Given the description of an element on the screen output the (x, y) to click on. 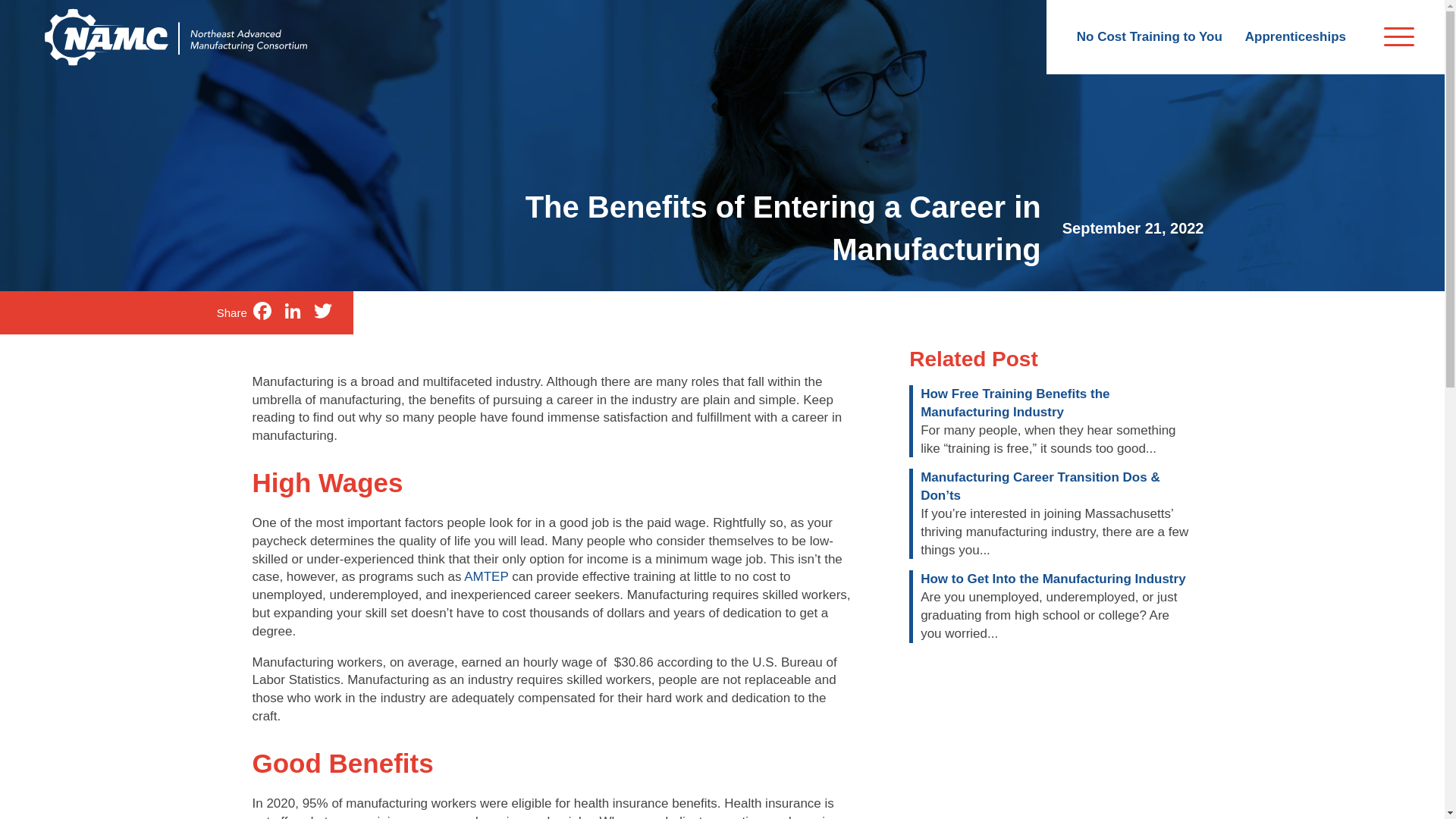
Facebook (262, 312)
Twitter (322, 312)
LinkedIn (292, 312)
Apprenticeships (1294, 36)
Twitter (322, 312)
LinkedIn (292, 312)
Facebook (262, 312)
How Free Training Benefits the Manufacturing Industry (1056, 402)
No Cost Training to You (1150, 36)
How to Get Into the Manufacturing Industry (1056, 579)
AMTEP (486, 576)
